Given the description of an element on the screen output the (x, y) to click on. 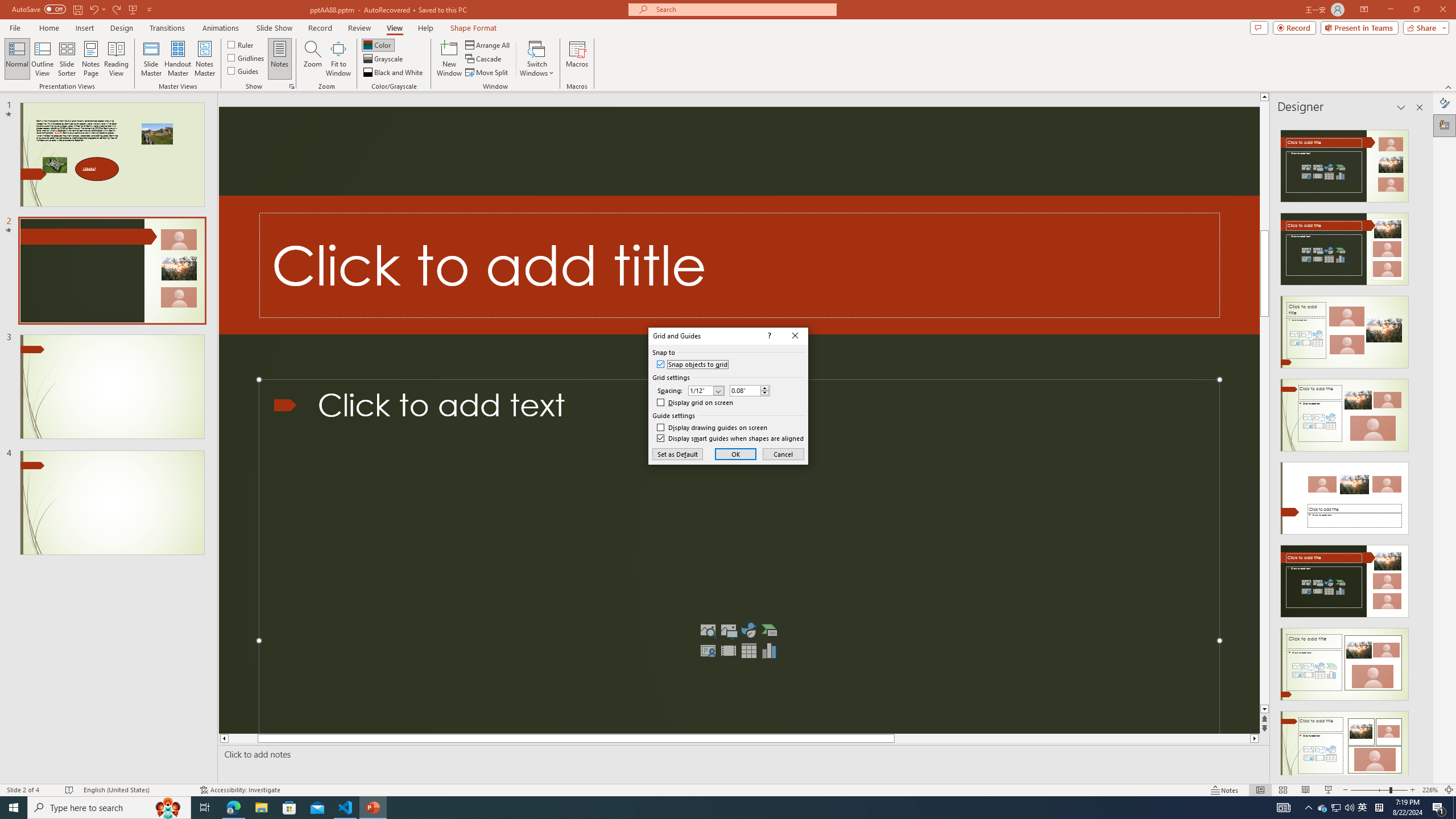
Black and White (393, 72)
Zoom 226% (1430, 790)
Action Center, 1 new notification (1439, 807)
Color (377, 44)
Switch Windows (537, 58)
